Given the description of an element on the screen output the (x, y) to click on. 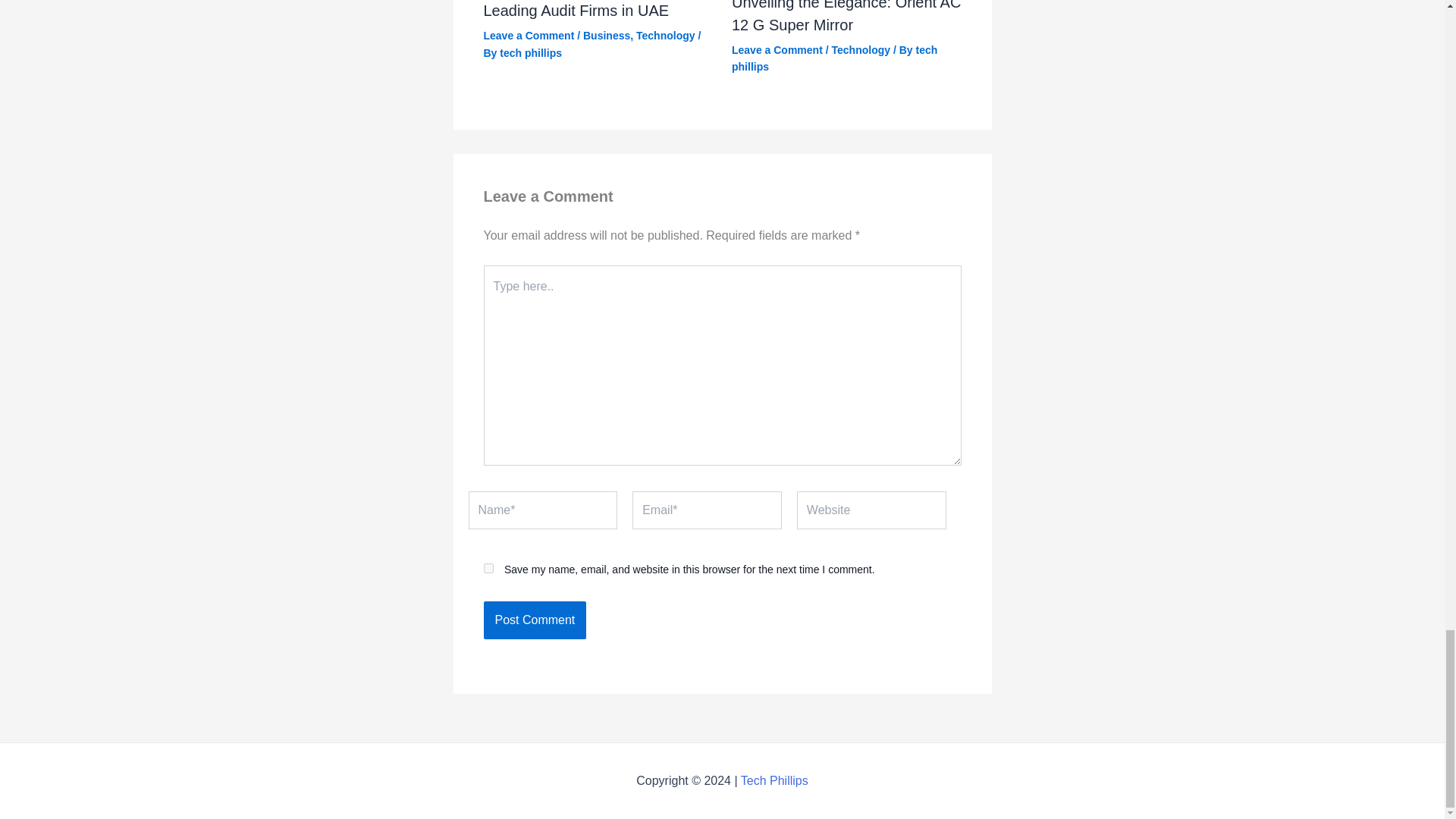
Post Comment (534, 620)
yes (488, 568)
View all posts by tech phillips (530, 52)
